Given the description of an element on the screen output the (x, y) to click on. 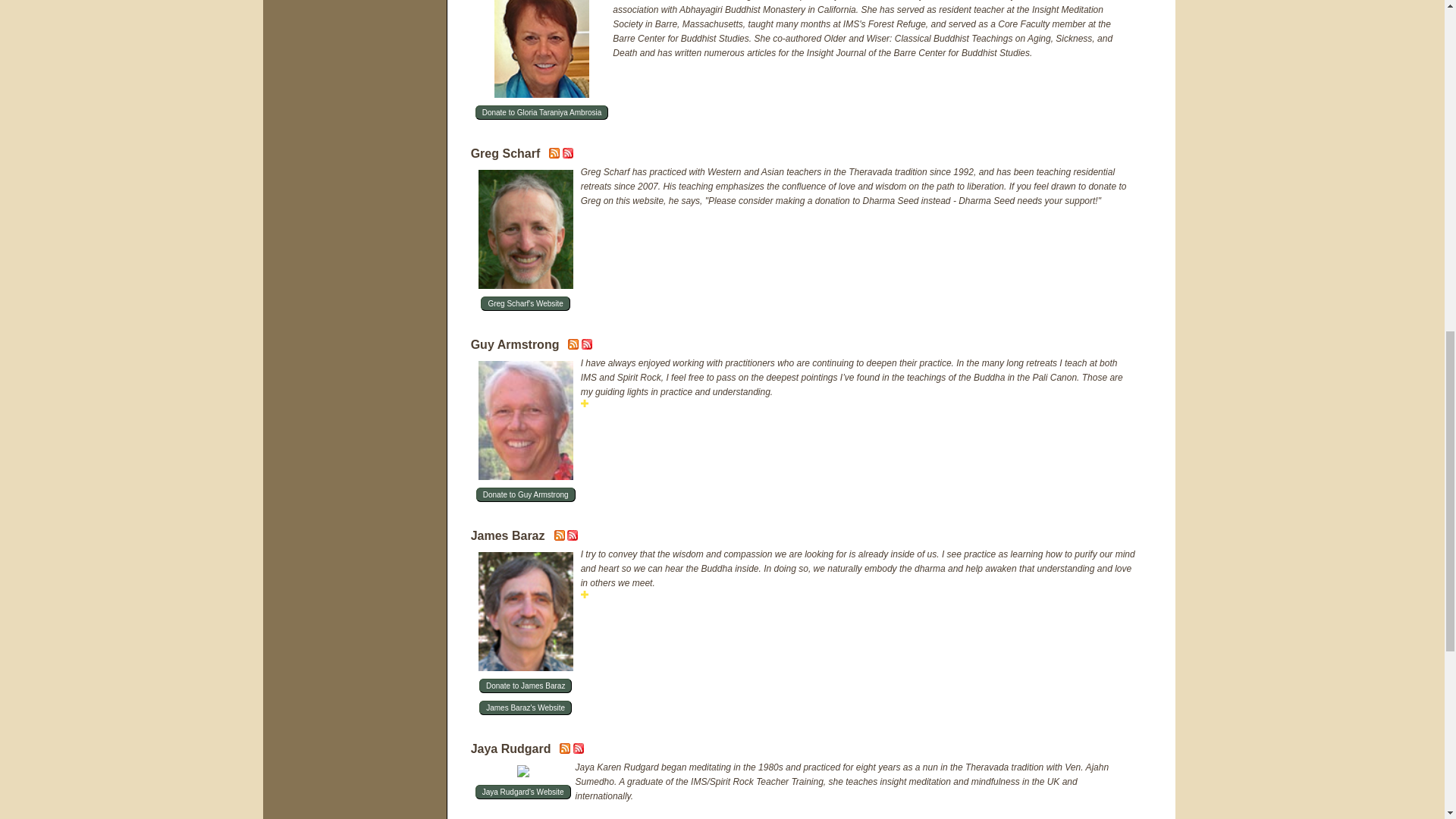
All 25 of Guy Armstrong's talks (586, 346)
Jaya Rudgard's most recent talks (565, 750)
Guy Armstrong's most recent talks (573, 346)
All 4 of Jaya Rudgard's talks (578, 750)
James Baraz's most recent talks (560, 537)
Greg Scharf's most recent talks (555, 154)
All 9 of James Baraz's talks (572, 537)
All 26 of Greg Scharf's talks (567, 154)
Donate to Gloria Taraniya Ambrosia (542, 112)
